Given the description of an element on the screen output the (x, y) to click on. 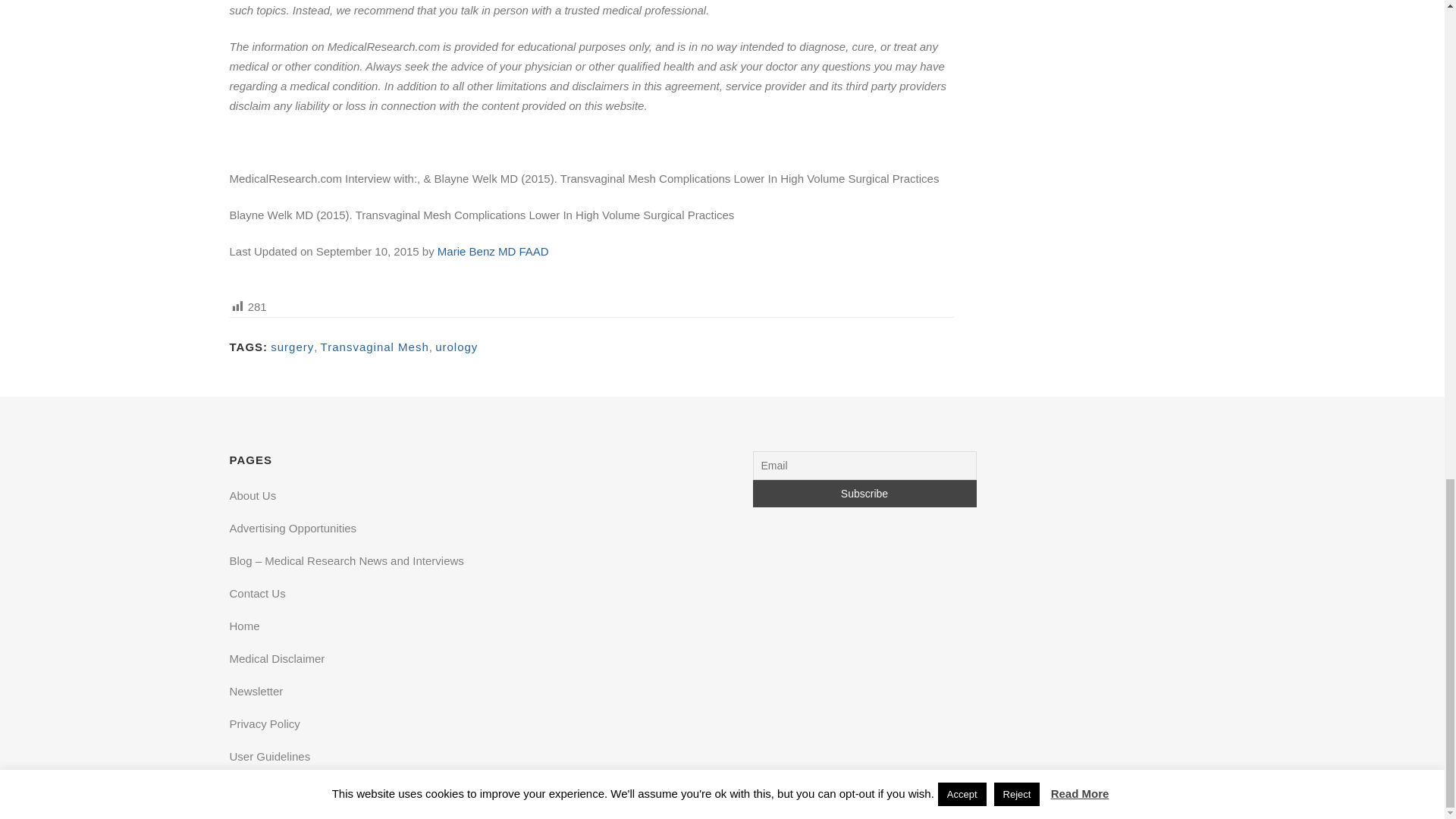
Subscribe (863, 492)
